Given the description of an element on the screen output the (x, y) to click on. 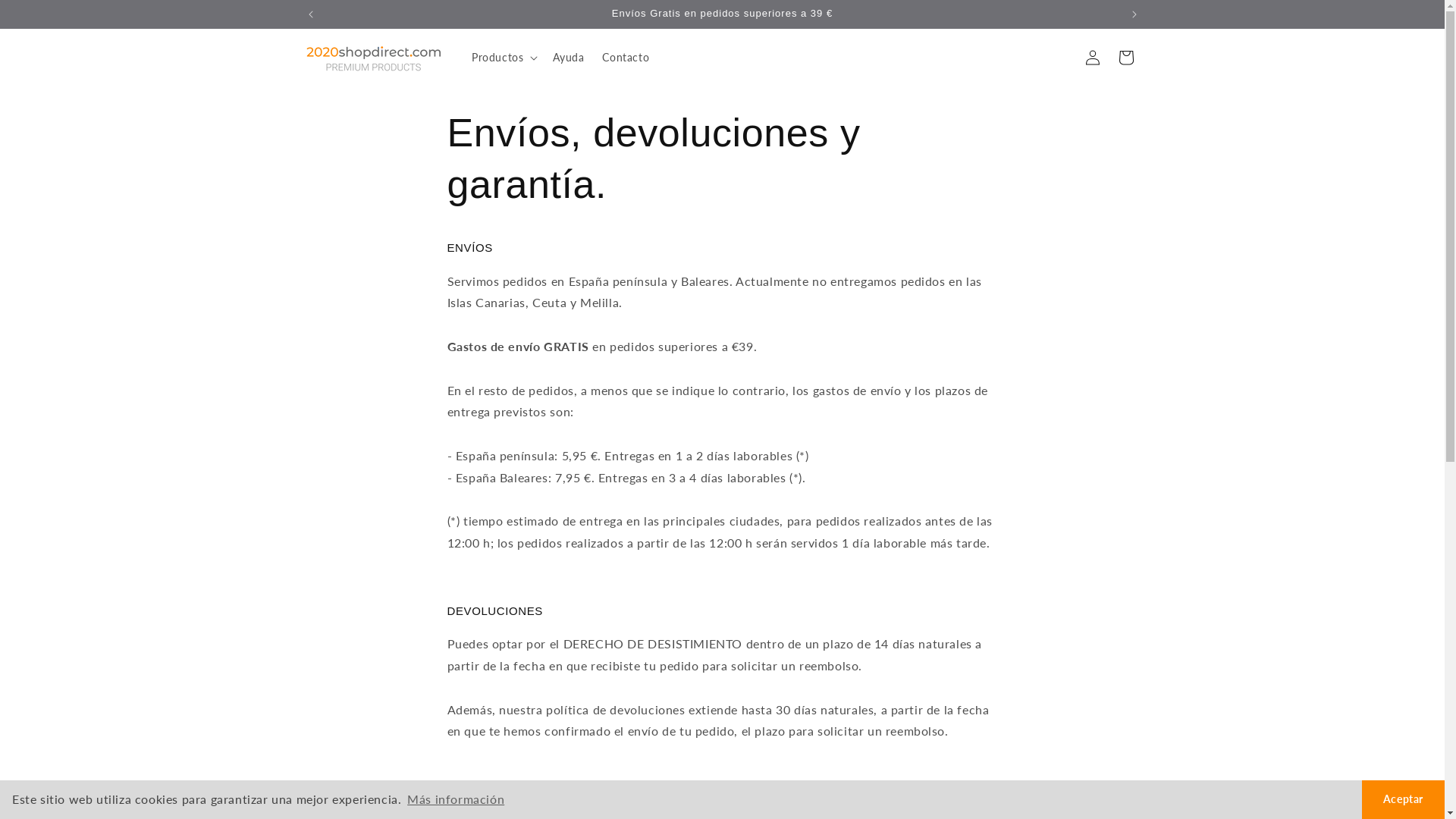
Contacto Element type: text (625, 57)
Carrito Element type: text (1125, 57)
Ayuda Element type: text (568, 57)
